Given the description of an element on the screen output the (x, y) to click on. 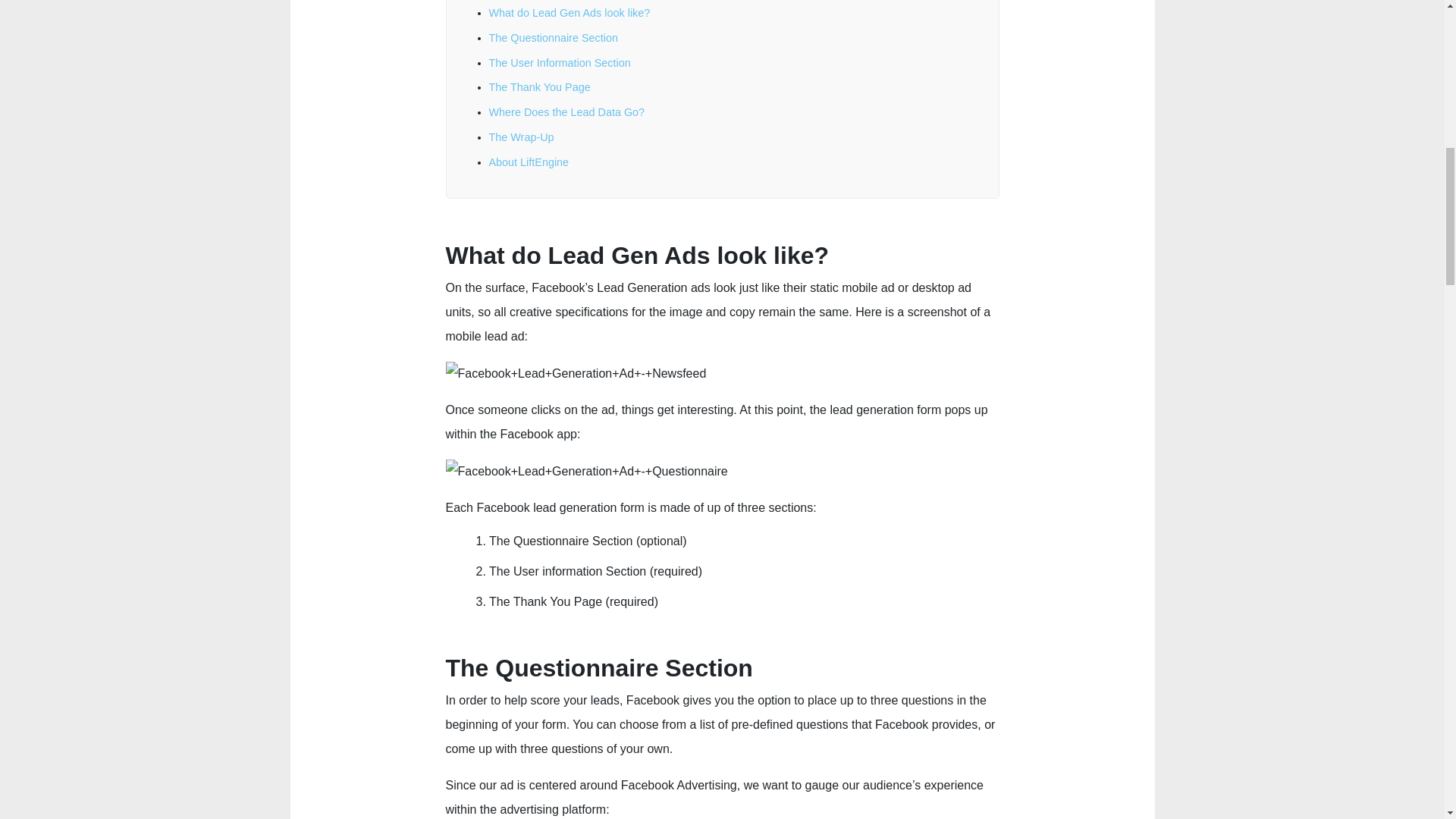
What do Lead Gen Ads look like? (568, 12)
The Questionnaire Section (552, 37)
The User Information Section (558, 62)
The Thank You Page (538, 87)
The Wrap-Up (520, 137)
Where Does the Lead Data Go? (566, 111)
About LiftEngine (528, 162)
